Given the description of an element on the screen output the (x, y) to click on. 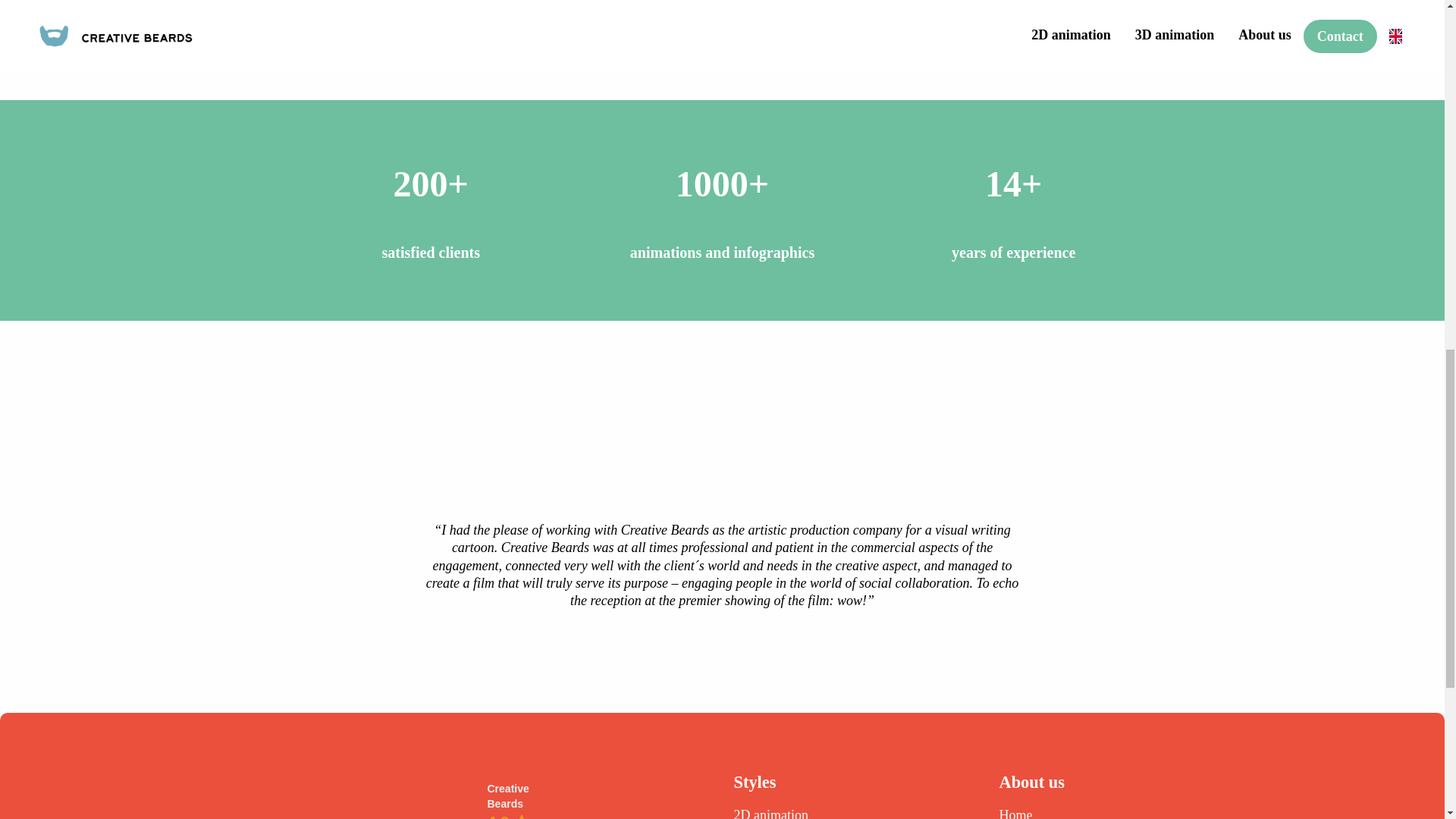
2D animation (770, 812)
Home (1015, 812)
Send (789, 6)
Send (789, 6)
Terms of Service (1077, 23)
Privacy Policy (997, 23)
Creative Beards (507, 795)
